Given the description of an element on the screen output the (x, y) to click on. 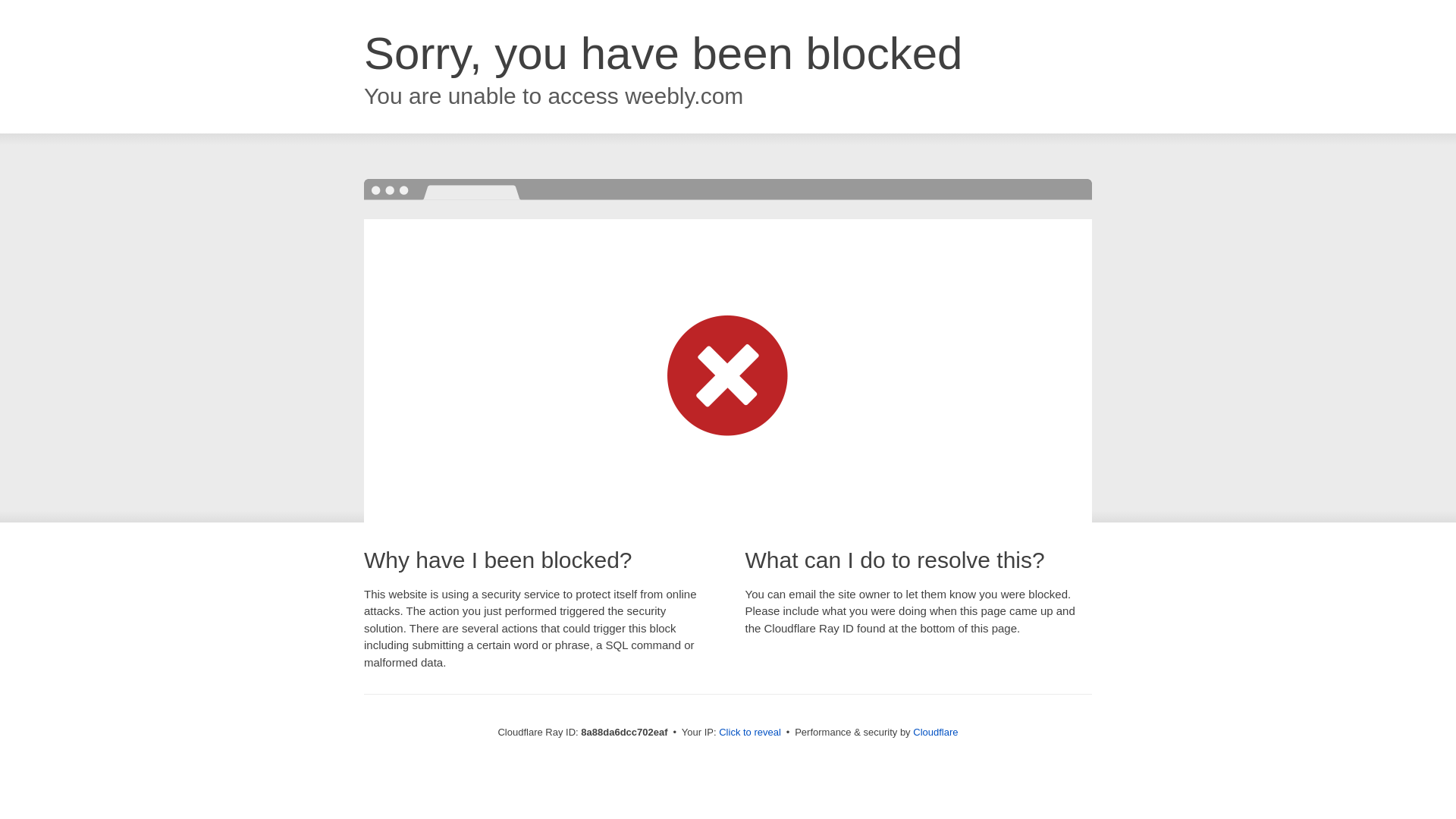
Click to reveal (749, 732)
Cloudflare (935, 731)
